Given the description of an element on the screen output the (x, y) to click on. 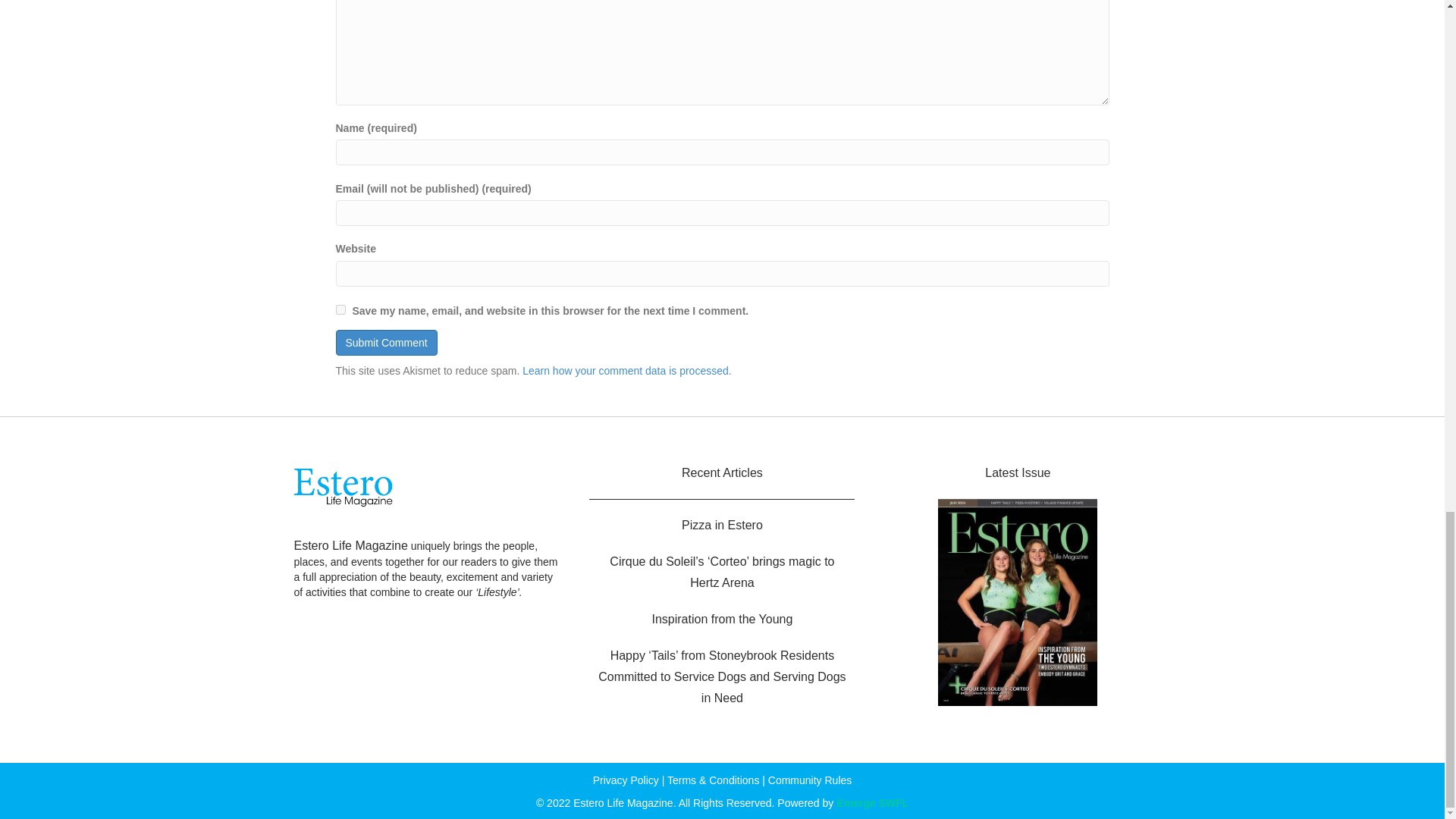
yes (339, 309)
Pizza in Estero (721, 524)
Inspiration from the Young (721, 618)
Estero Life Magazine July 2024 (1017, 601)
Submit Comment (385, 342)
